Given the description of an element on the screen output the (x, y) to click on. 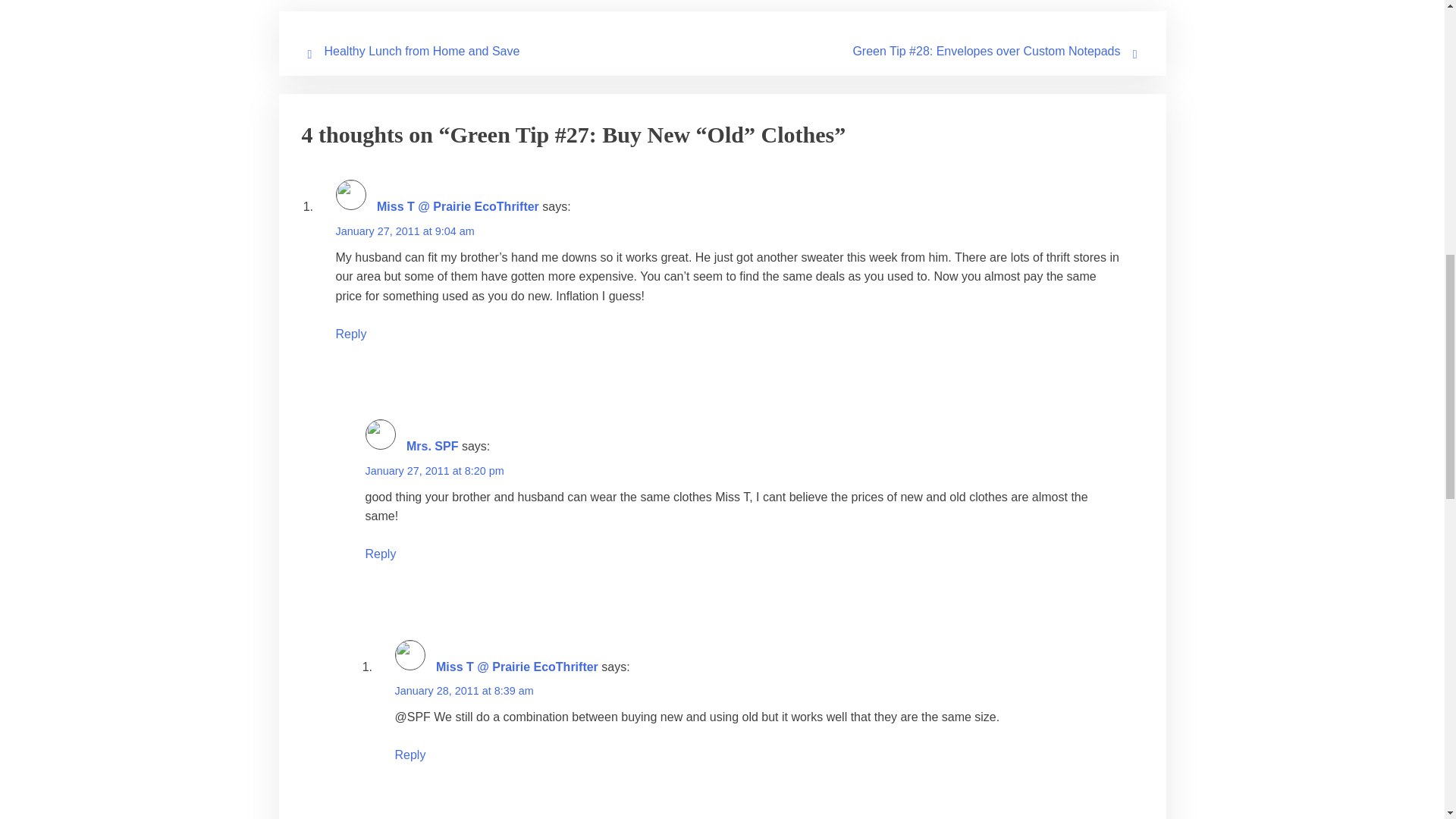
Healthy Lunch from Home and Save (421, 51)
January 28, 2011 at 8:39 am (463, 690)
Reply (350, 333)
Mrs. SPF (432, 445)
Reply (380, 553)
January 27, 2011 at 9:04 am (404, 231)
Reply (409, 754)
January 27, 2011 at 8:20 pm (434, 470)
